Given the description of an element on the screen output the (x, y) to click on. 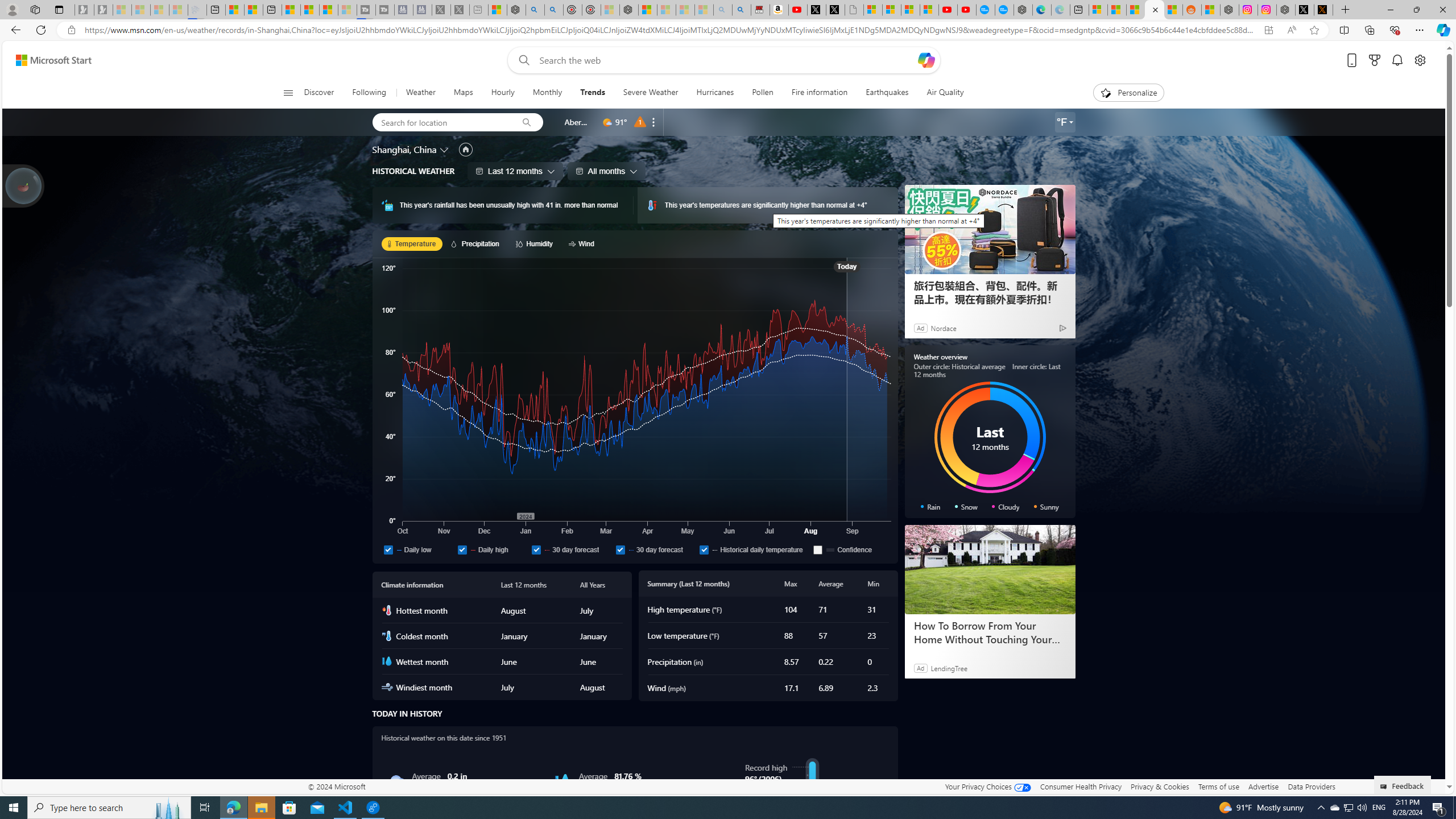
Shanghai, China weather forecast | Microsoft Weather (1116, 9)
Rain (396, 781)
Refresh (40, 29)
Skip to content (49, 59)
Web search (520, 60)
Back (13, 29)
Enter your search term (726, 59)
Restore (1416, 9)
Weather (420, 92)
Historical daily temperature (703, 549)
Microsoft account | Microsoft Account Privacy Settings (1098, 9)
Monthly (547, 92)
